Given the description of an element on the screen output the (x, y) to click on. 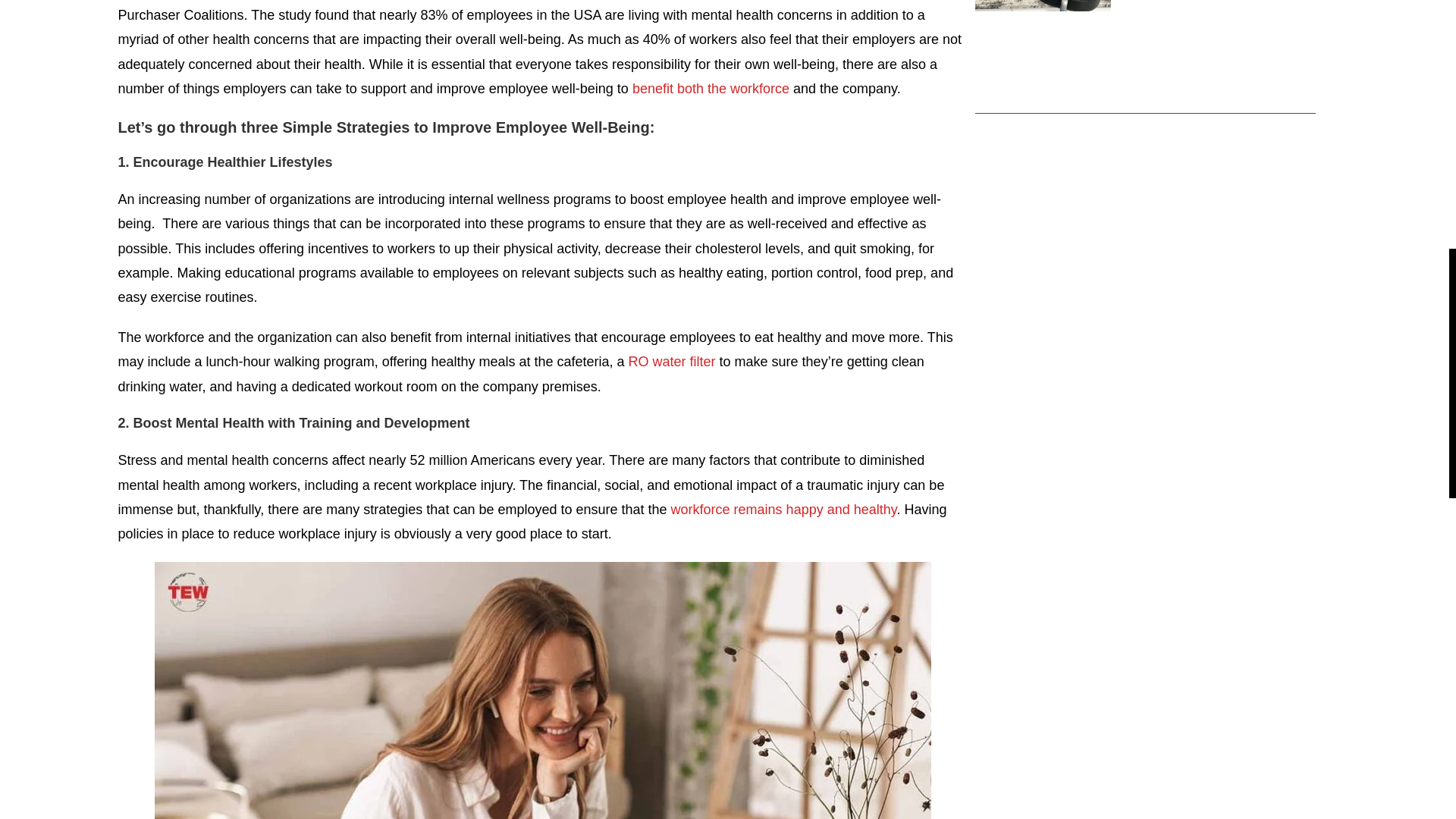
workforce remains happy and healthy (783, 509)
benefit both the workforce (710, 88)
RO water filter (672, 361)
